Given the description of an element on the screen output the (x, y) to click on. 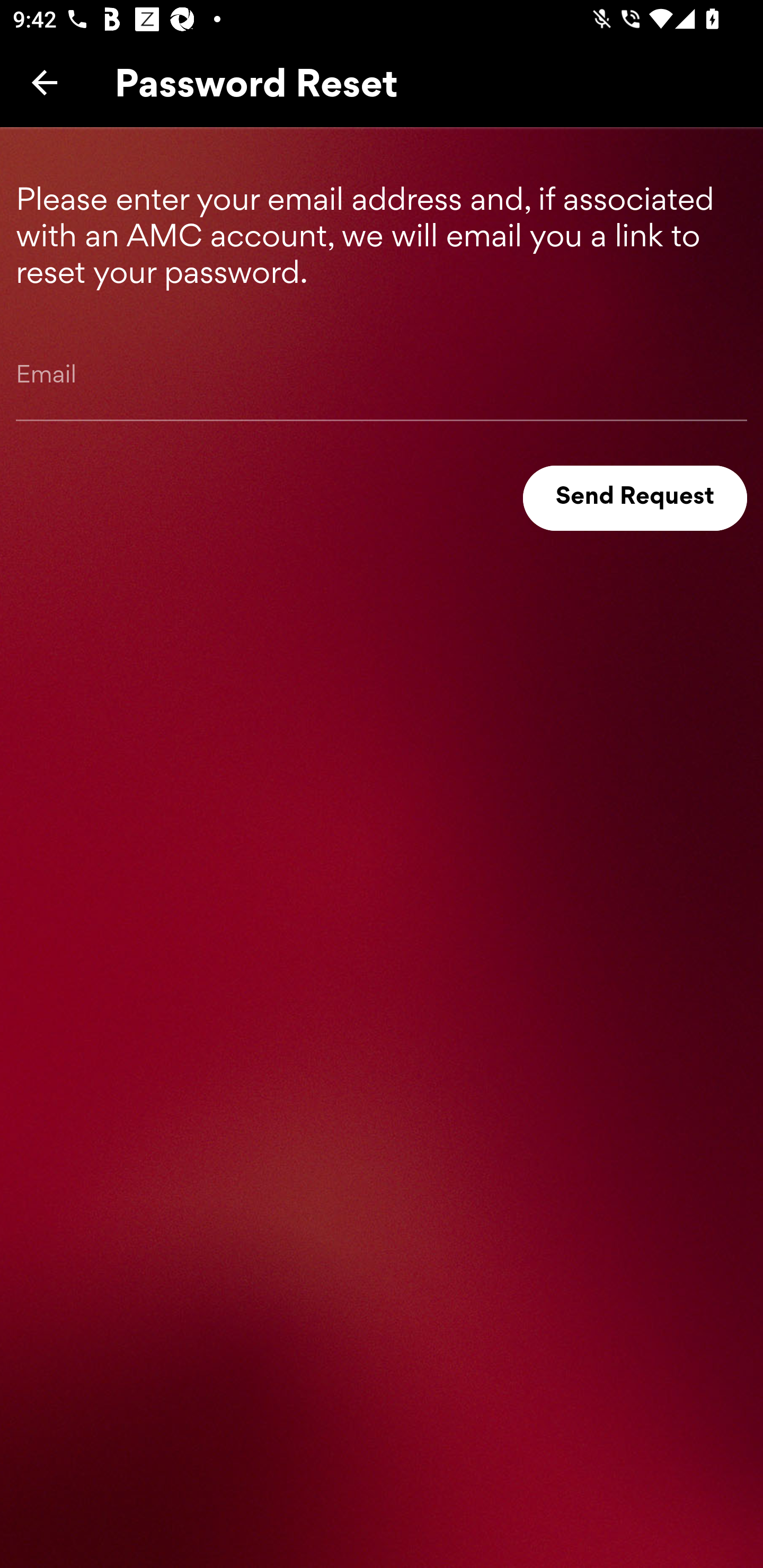
Back (44, 82)
Send Request (634, 498)
